Given the description of an element on the screen output the (x, y) to click on. 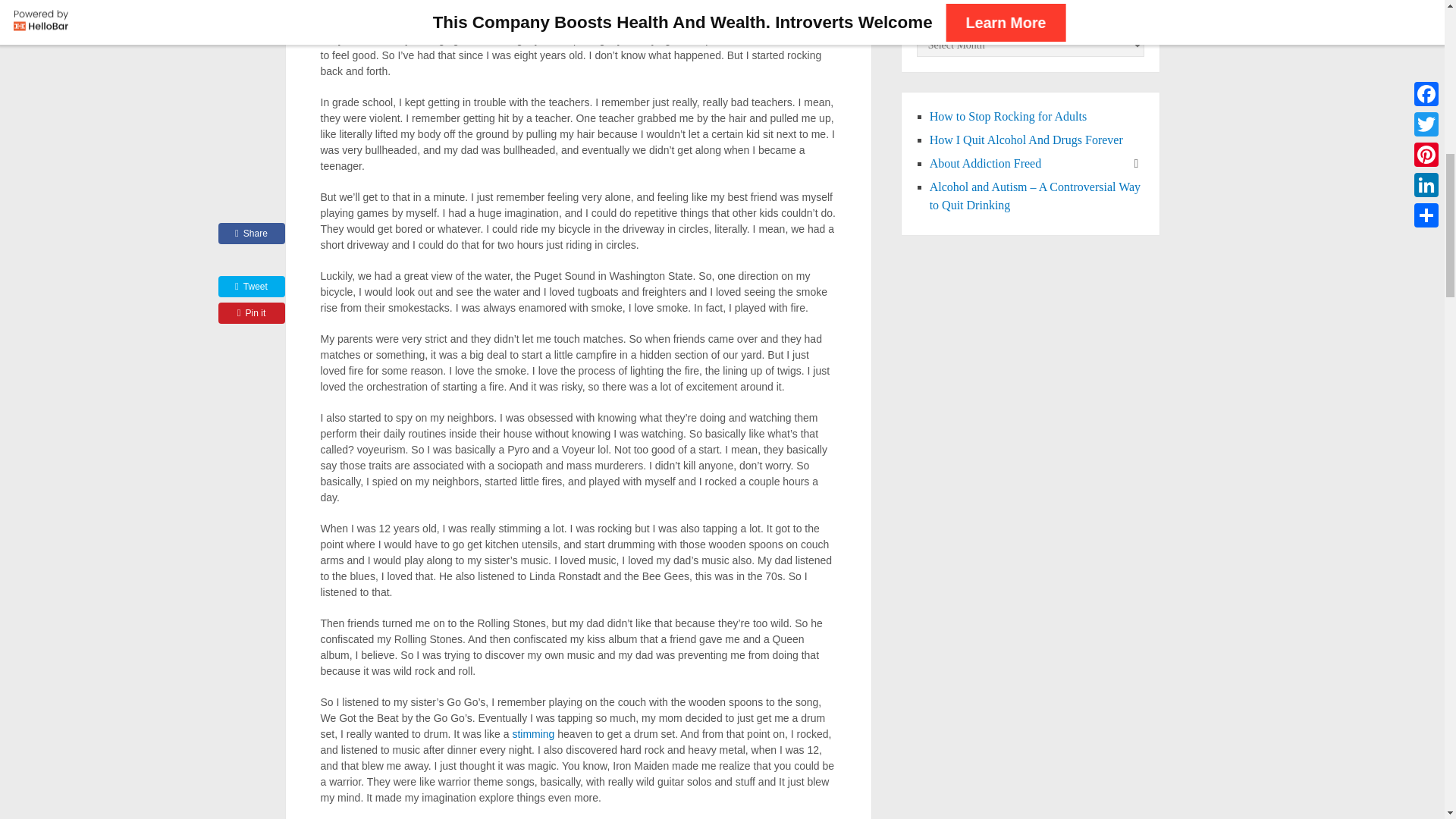
stimming (533, 734)
